Given the description of an element on the screen output the (x, y) to click on. 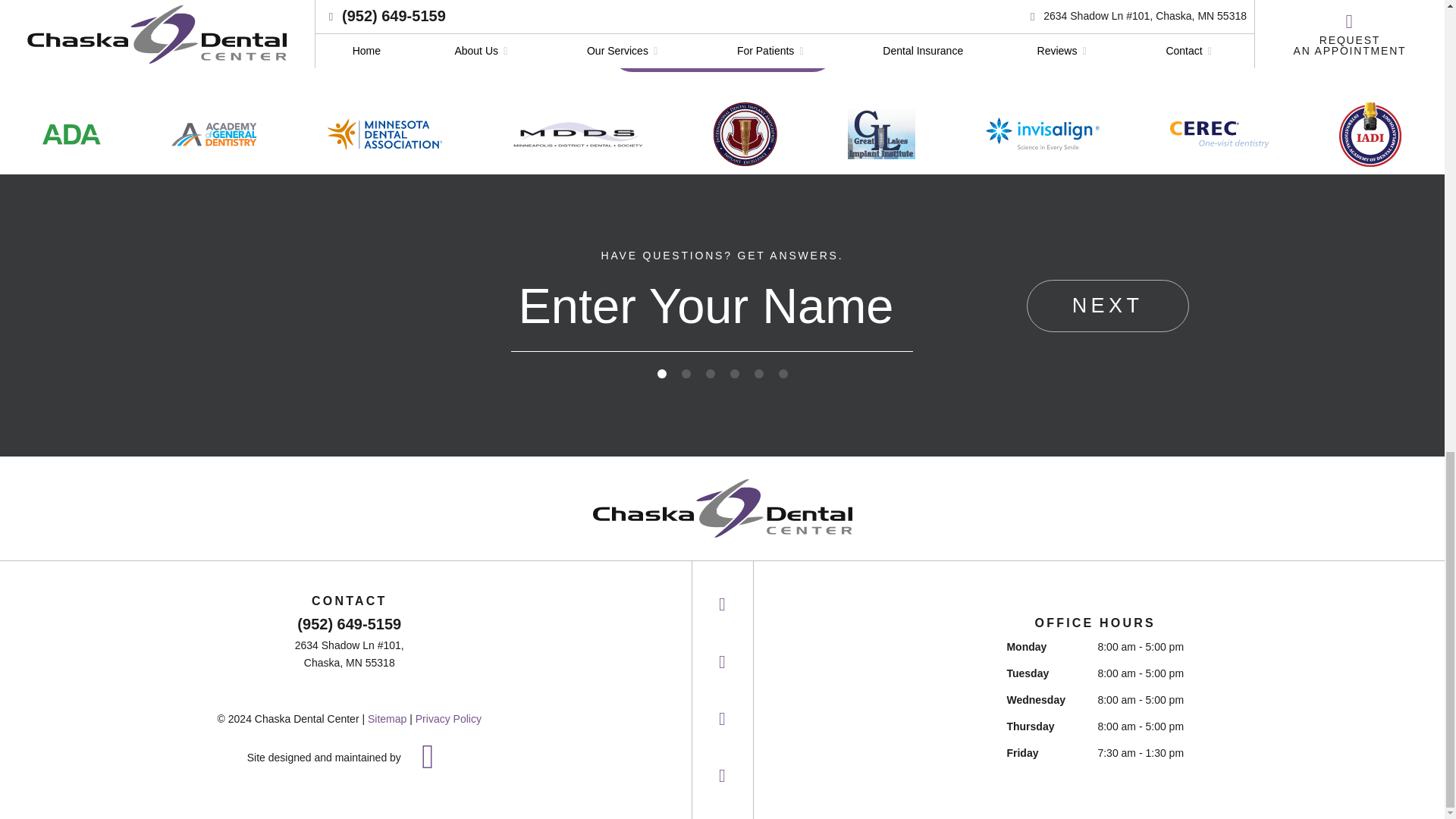
Submit Request (722, 49)
